Given the description of an element on the screen output the (x, y) to click on. 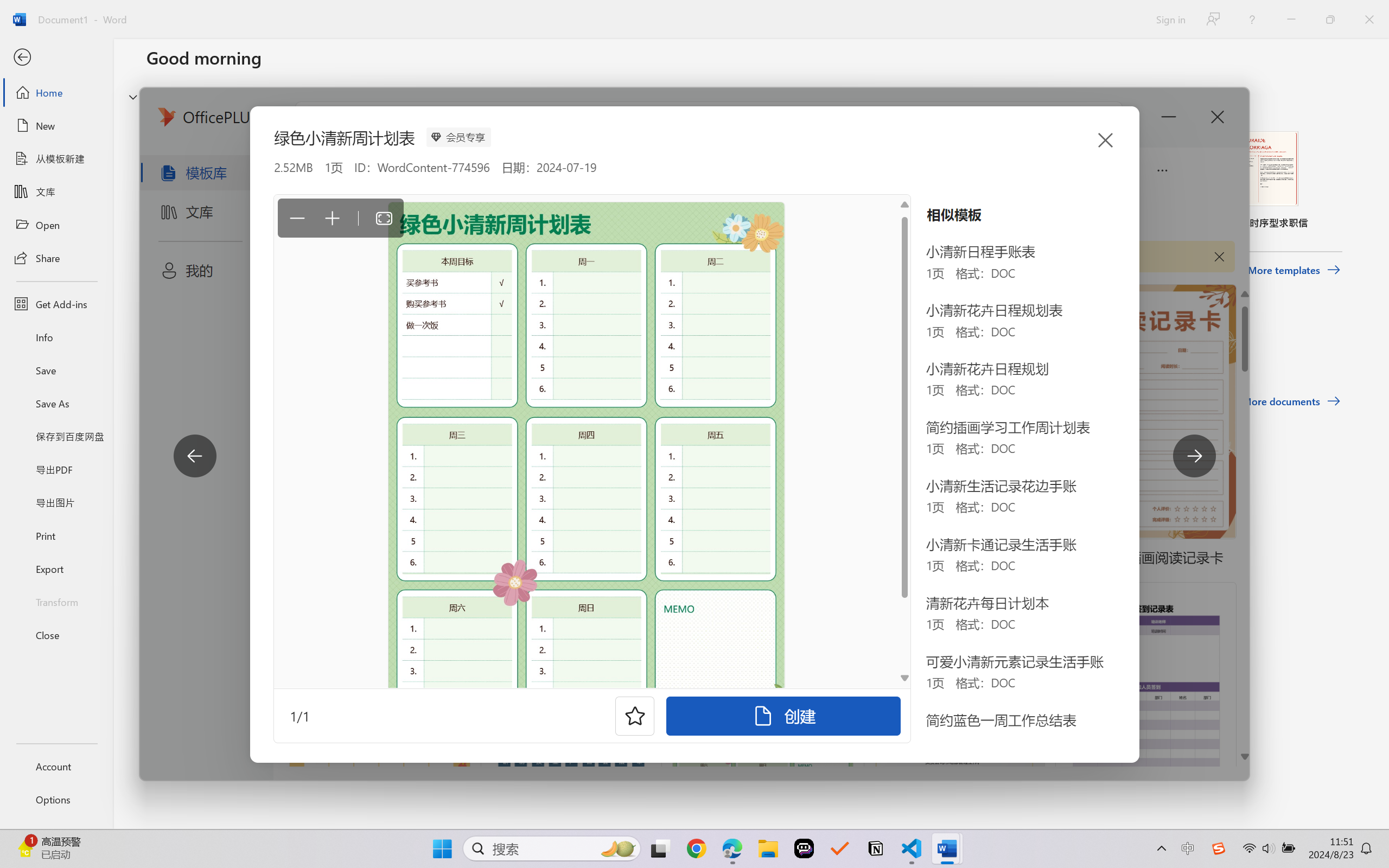
New (56, 125)
Export (56, 568)
Back (56, 57)
